Given the description of an element on the screen output the (x, y) to click on. 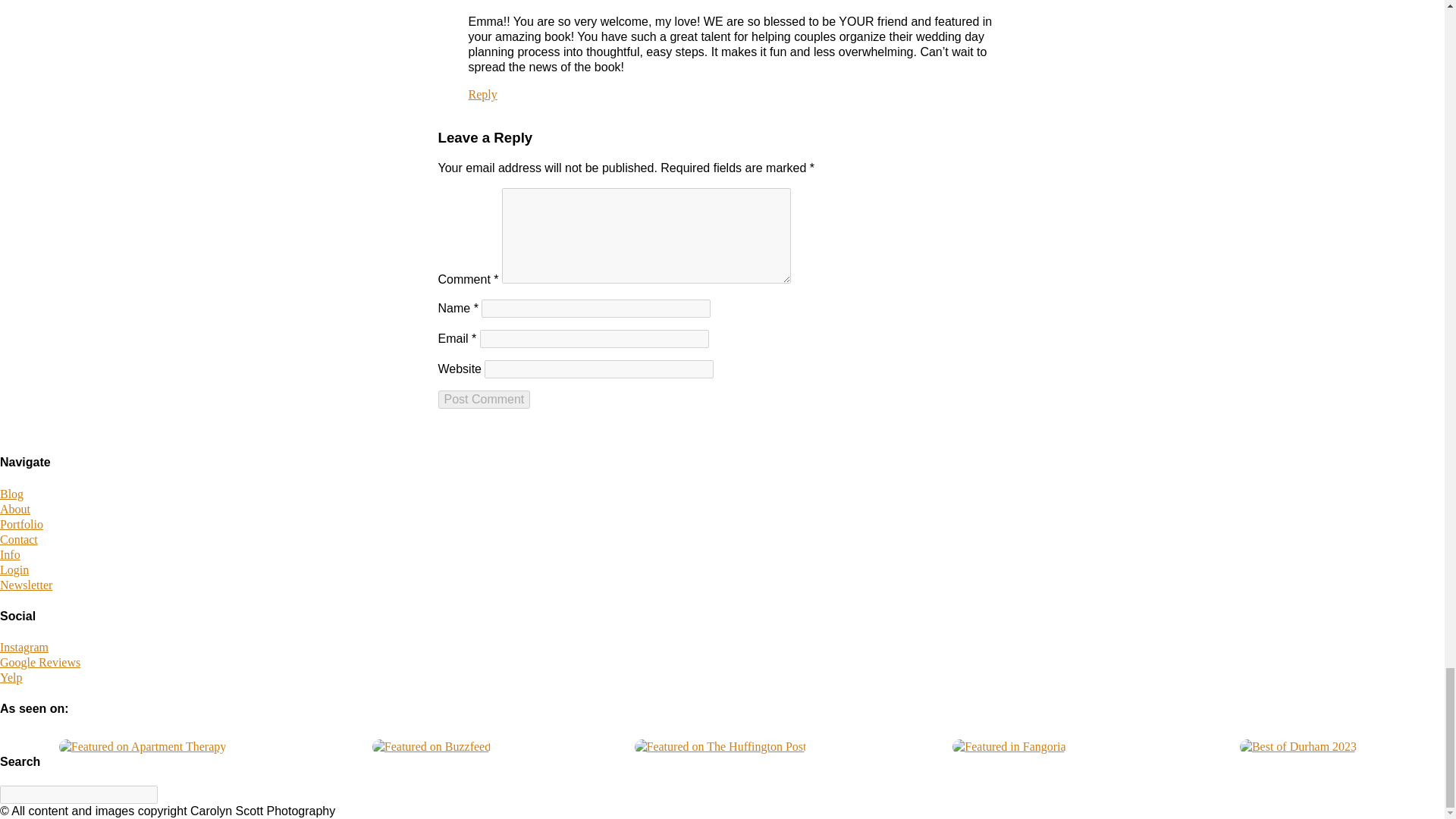
Reply (482, 93)
Info (10, 554)
Post Comment (484, 399)
Yelp (11, 676)
Portfolio (21, 523)
Blog (11, 493)
Contact (18, 539)
Google Reviews (40, 662)
Post Comment (484, 399)
Instagram (24, 646)
About (15, 508)
Login (14, 569)
Newsletter (26, 584)
